Given the description of an element on the screen output the (x, y) to click on. 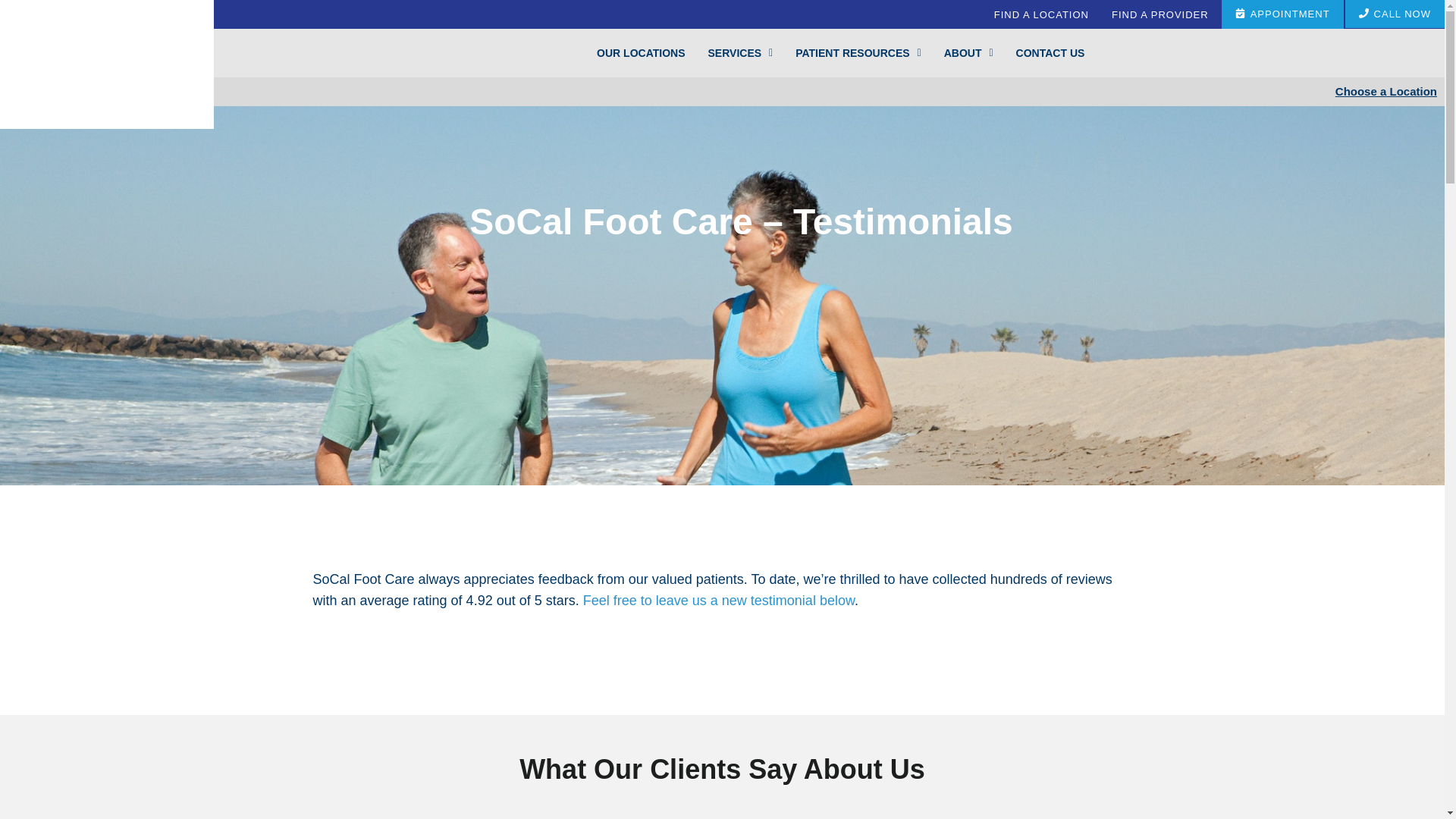
APPOINTMENT (1282, 14)
ABOUT (956, 53)
PATIENT RESOURCES (847, 53)
FIND A PROVIDER (1160, 13)
Choose a Location (1386, 91)
OUR LOCATIONS (628, 53)
SERVICES (729, 53)
CONTACT US (1038, 53)
FIND A LOCATION (1041, 13)
